Given the description of an element on the screen output the (x, y) to click on. 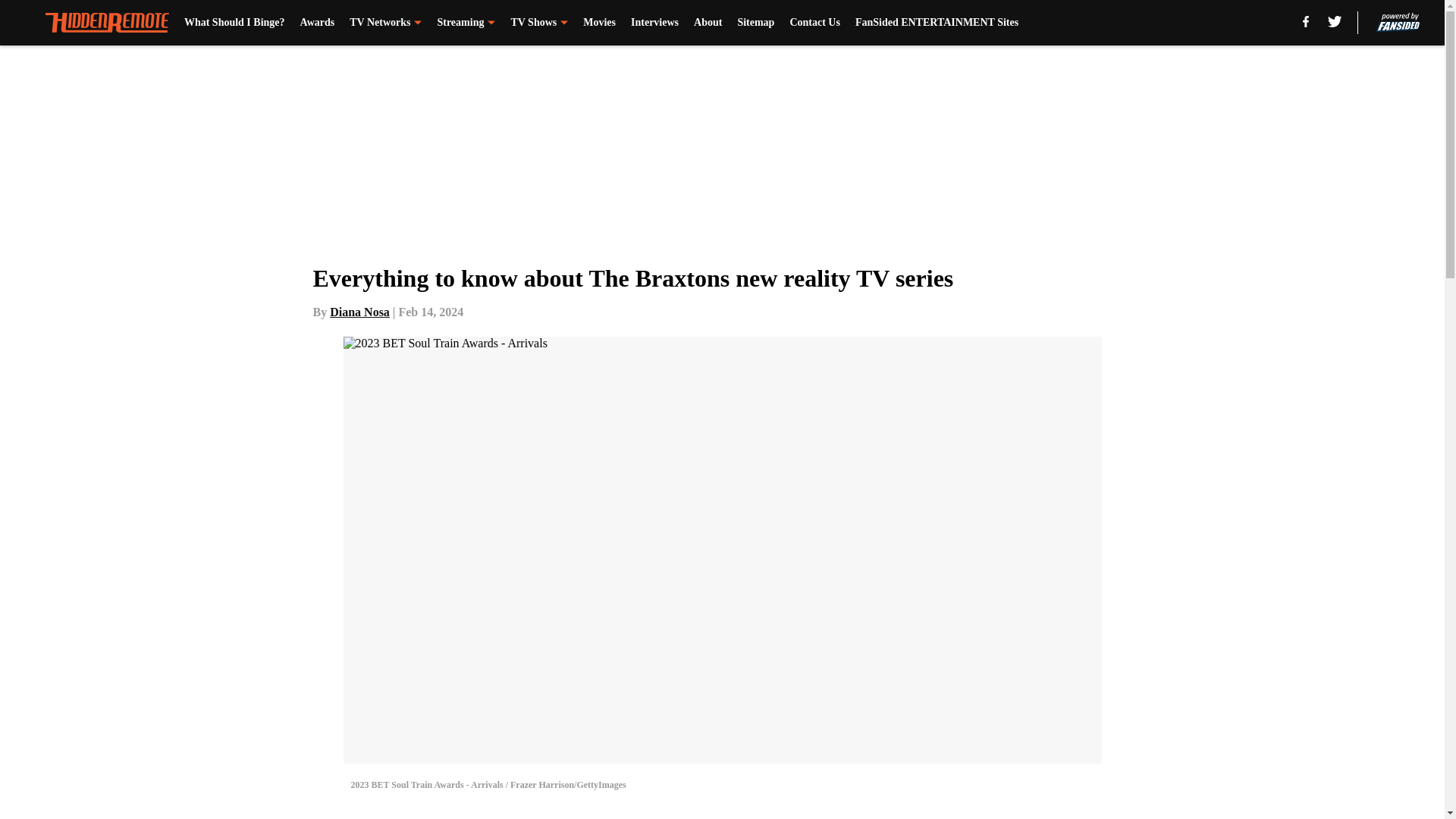
Sitemap (755, 22)
FanSided ENTERTAINMENT Sites (936, 22)
Movies (599, 22)
Interviews (654, 22)
What Should I Binge? (234, 22)
Contact Us (814, 22)
Diana Nosa (360, 311)
About (708, 22)
Awards (316, 22)
